Given the description of an element on the screen output the (x, y) to click on. 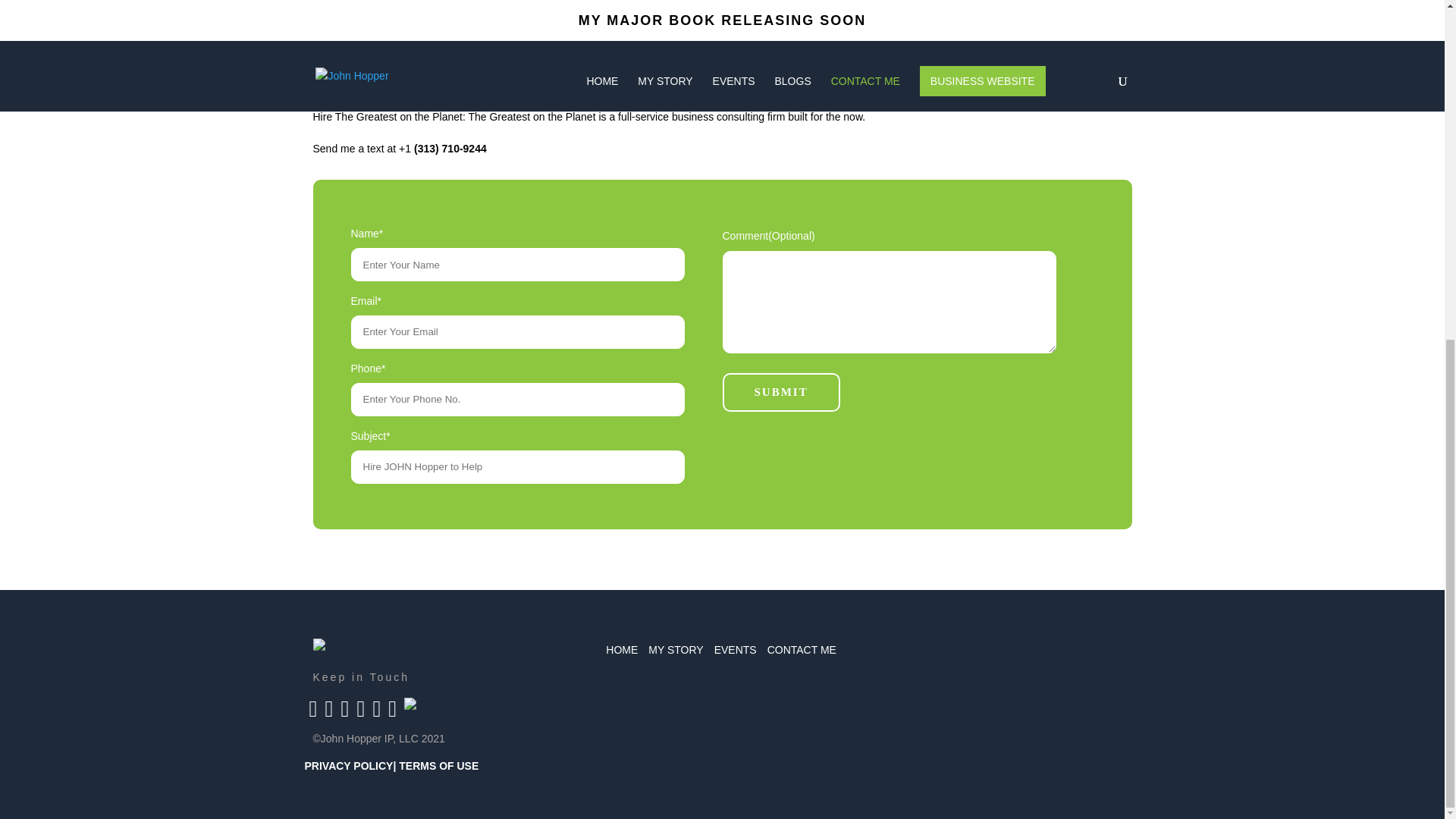
SUBMIT (781, 392)
SUBMIT (781, 392)
EVENTS (735, 649)
PRIVACY POLICY (348, 766)
MY STORY (675, 649)
HOME (621, 649)
CONTACT ME (801, 649)
